Given the description of an element on the screen output the (x, y) to click on. 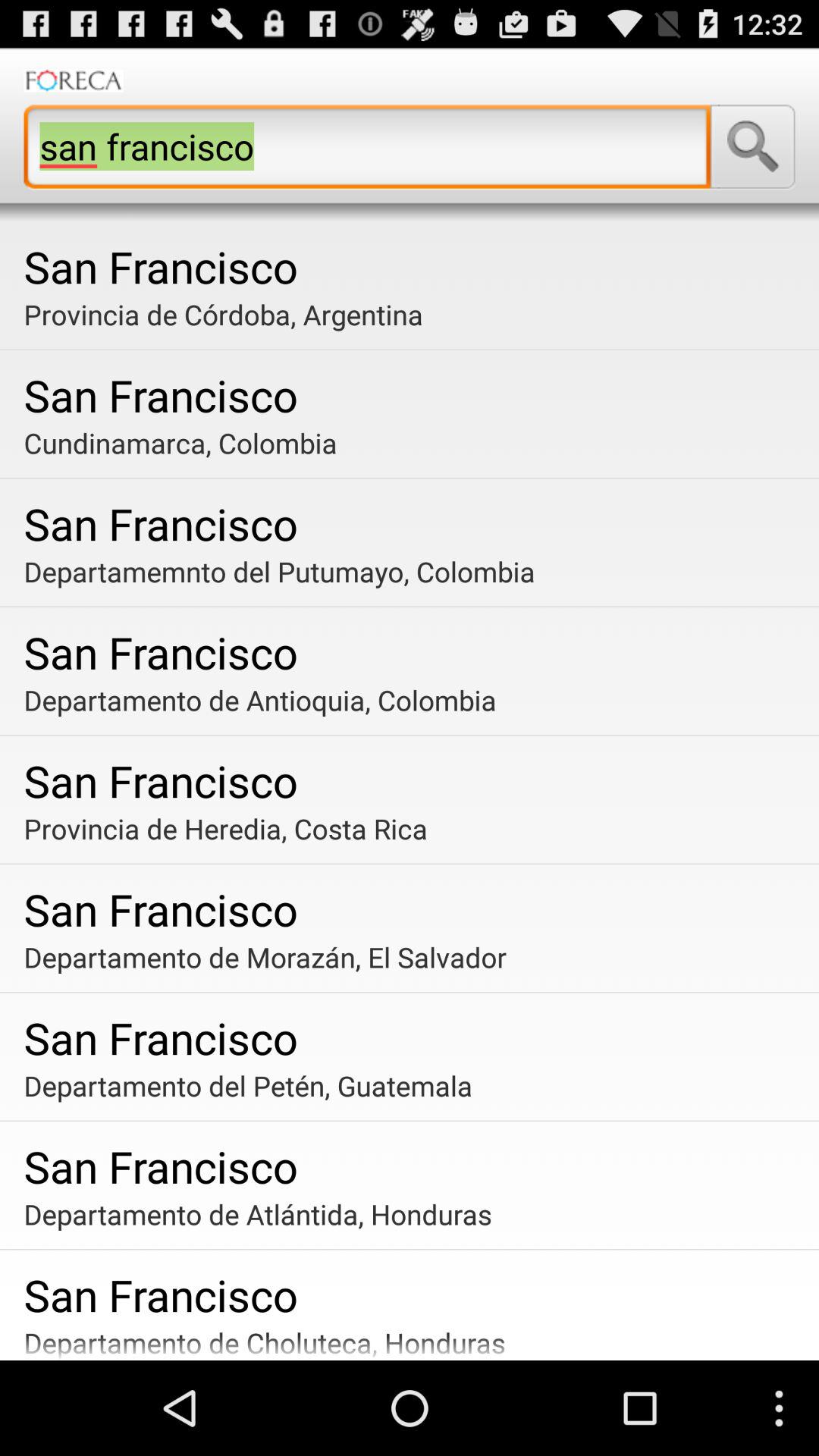
search for (752, 146)
